Given the description of an element on the screen output the (x, y) to click on. 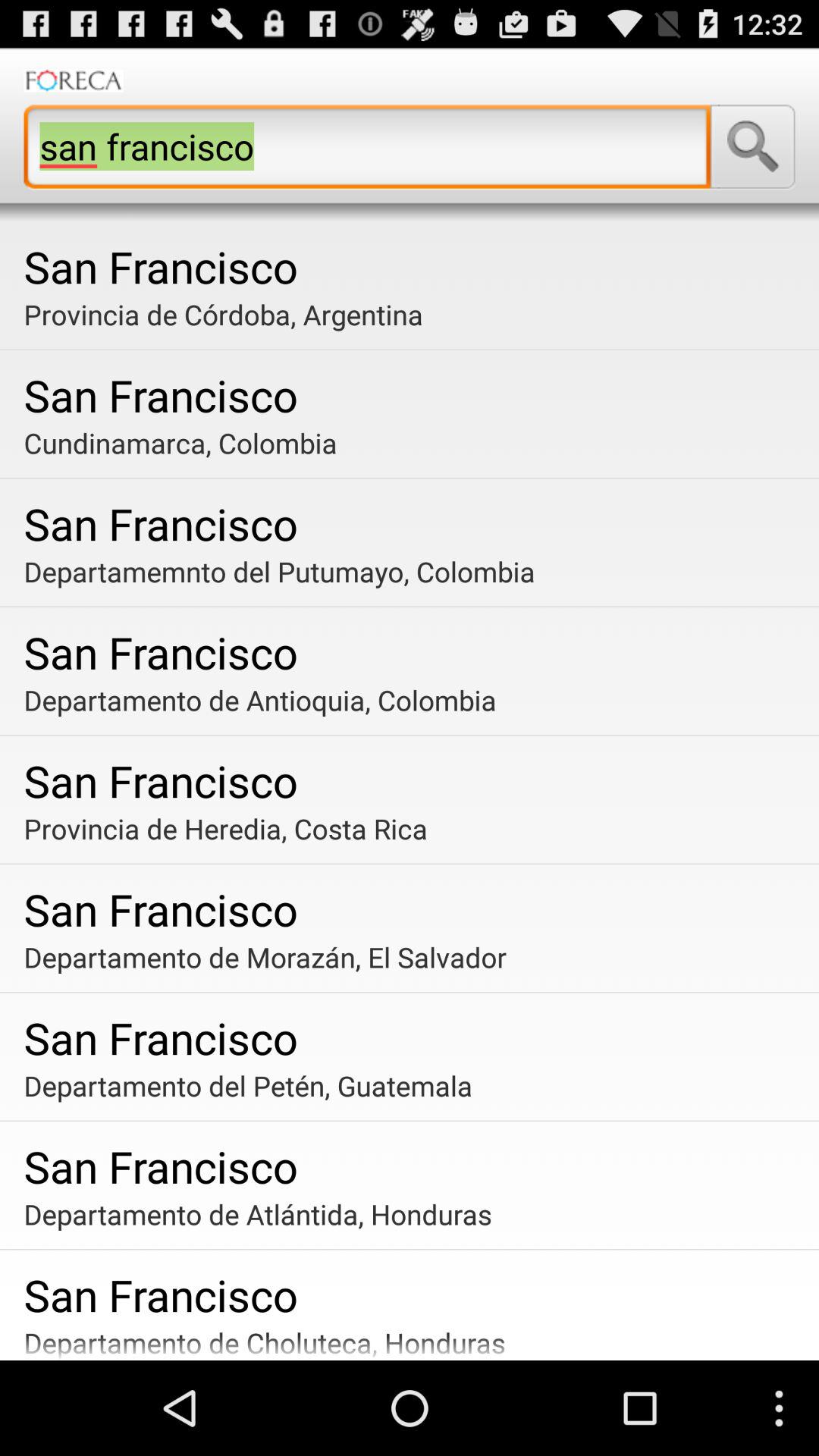
search for (752, 146)
